Given the description of an element on the screen output the (x, y) to click on. 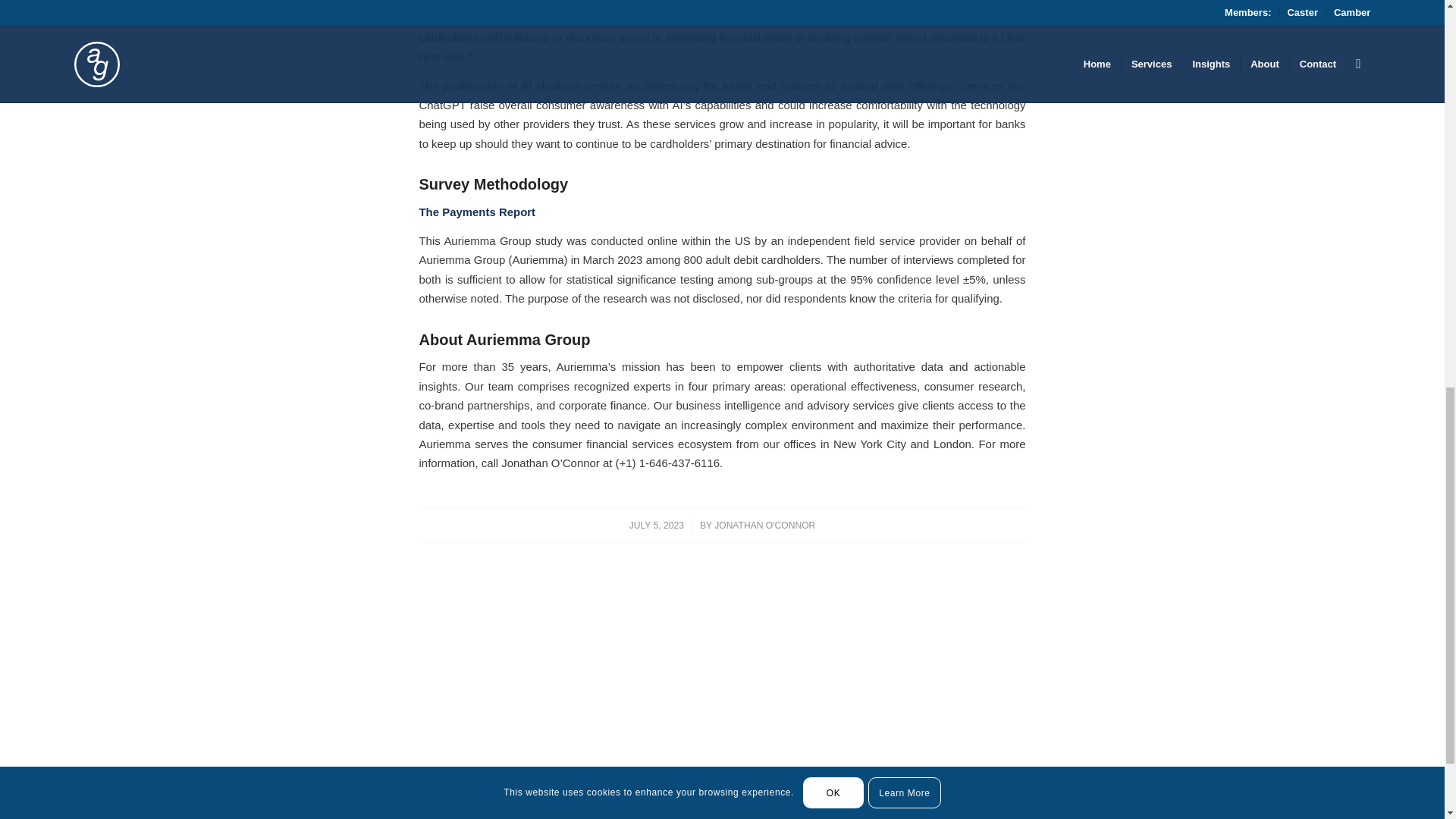
JONATHAN O'CONNOR (764, 525)
Privacy (1354, 816)
Posts by Jonathan O'Connor (764, 525)
